Given the description of an element on the screen output the (x, y) to click on. 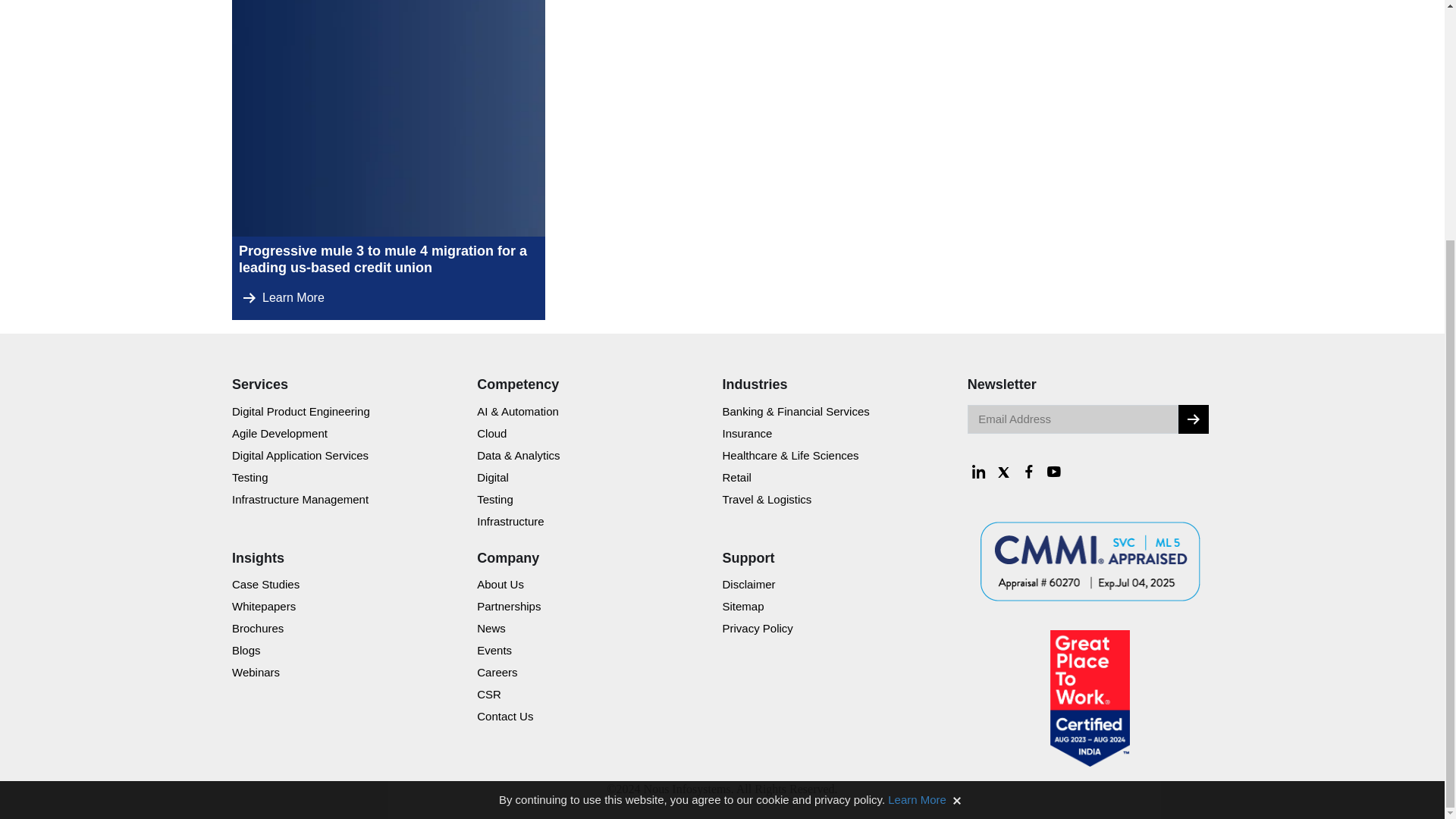
. (1192, 419)
